Given the description of an element on the screen output the (x, y) to click on. 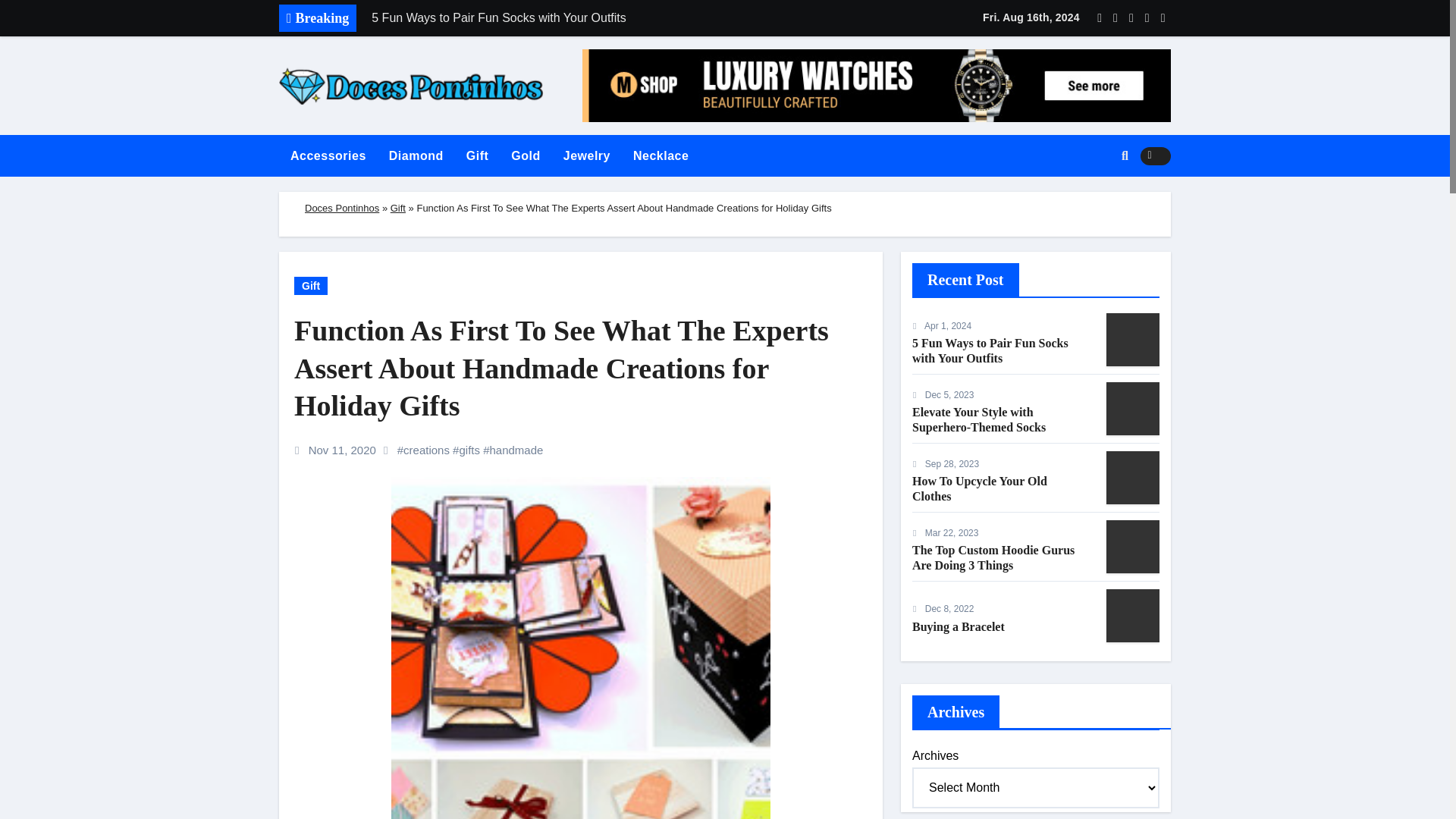
Diamond (415, 155)
Nov 11, 2020 (343, 449)
Necklace (660, 155)
Gold (525, 155)
Jewelry (586, 155)
Gift (398, 207)
Diamond (415, 155)
Elevate Your Style with Superhero-Themed Socks 4 (1132, 408)
5 Fun Ways to Pair Fun Socks with Your Outfits (574, 18)
Gift (310, 285)
